Given the description of an element on the screen output the (x, y) to click on. 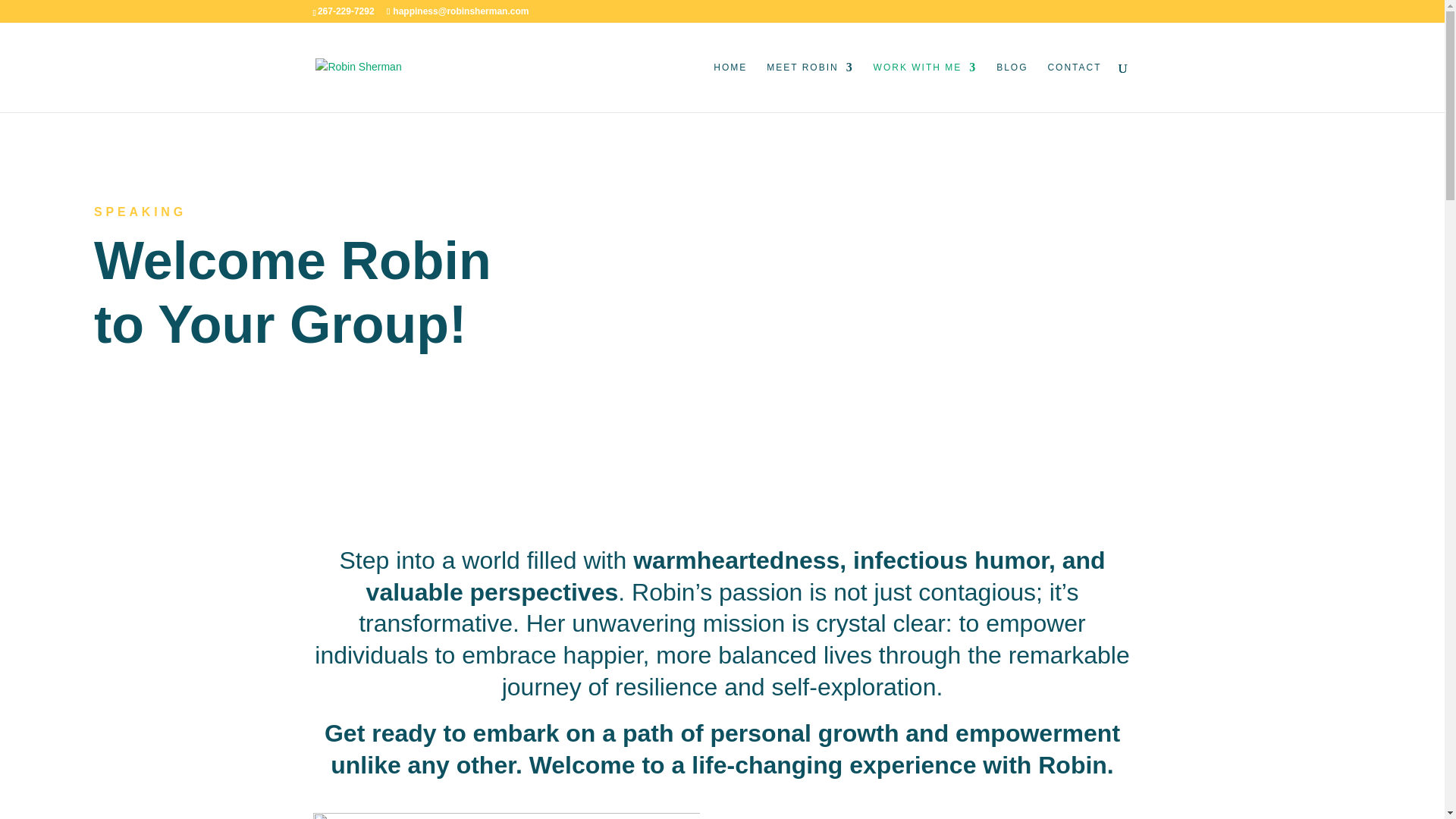
WORK WITH ME (924, 87)
MEET ROBIN (810, 87)
CONTACT (1073, 87)
RobinMirror (505, 816)
